Given the description of an element on the screen output the (x, y) to click on. 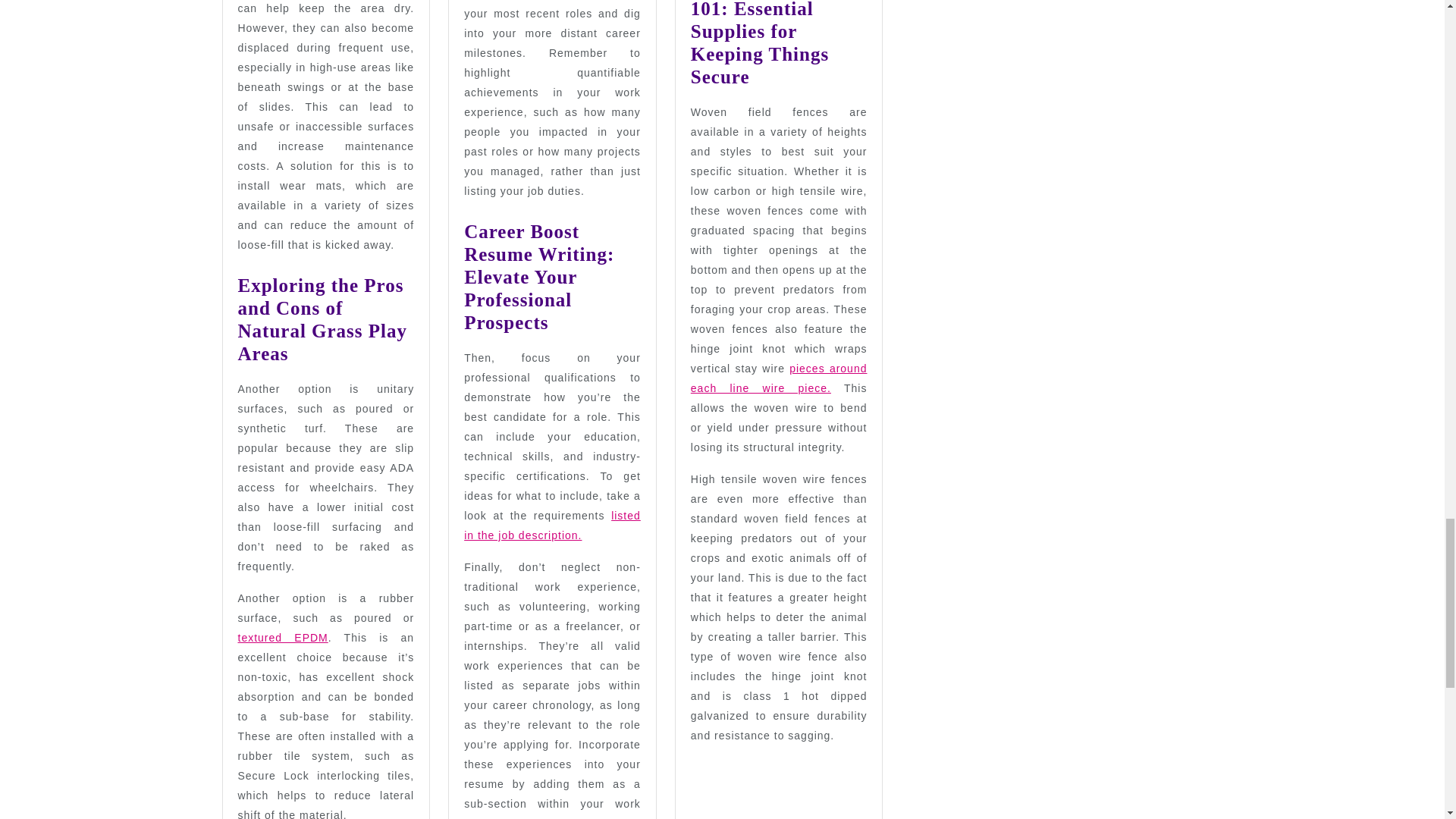
textured EPDM (283, 637)
pieces around each line wire piece. (778, 377)
listed in the job description. (552, 525)
